Given the description of an element on the screen output the (x, y) to click on. 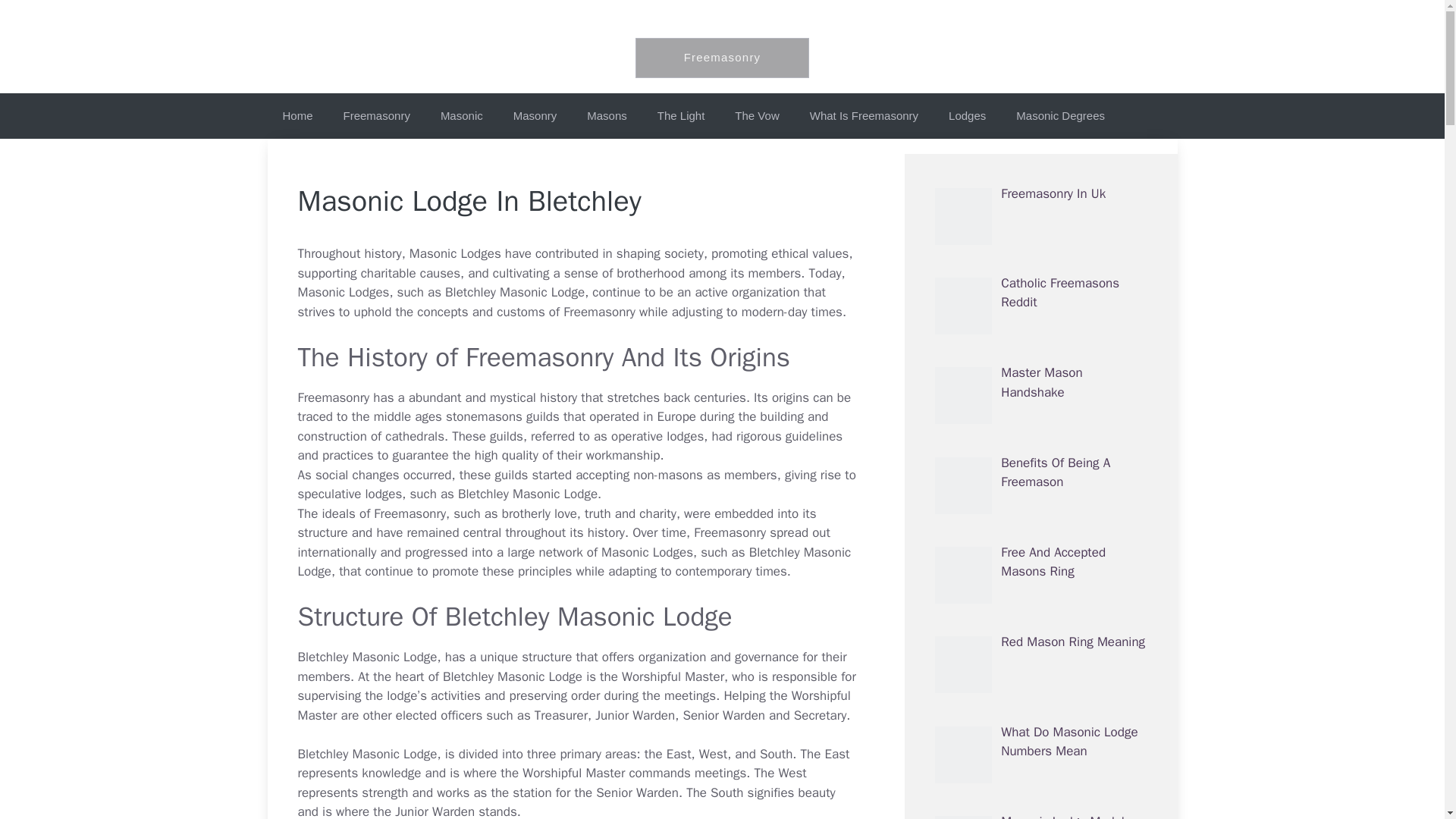
The Light (681, 115)
Catholic Freemasons Reddit (1060, 293)
Lodges (967, 115)
Home (296, 115)
Masonic Lodge Medals (1066, 816)
Benefits Of Being A Freemason (1055, 472)
Esoteric Freemasons (721, 25)
Masonry (534, 115)
Freemasonry In Uk (1053, 192)
What Do Masonic Lodge Numbers Mean (1069, 741)
Master Mason Handshake (1041, 382)
What Is Freemasonry (863, 115)
The Vow (756, 115)
Masonic Degrees (1060, 115)
Freemasonry (377, 115)
